Given the description of an element on the screen output the (x, y) to click on. 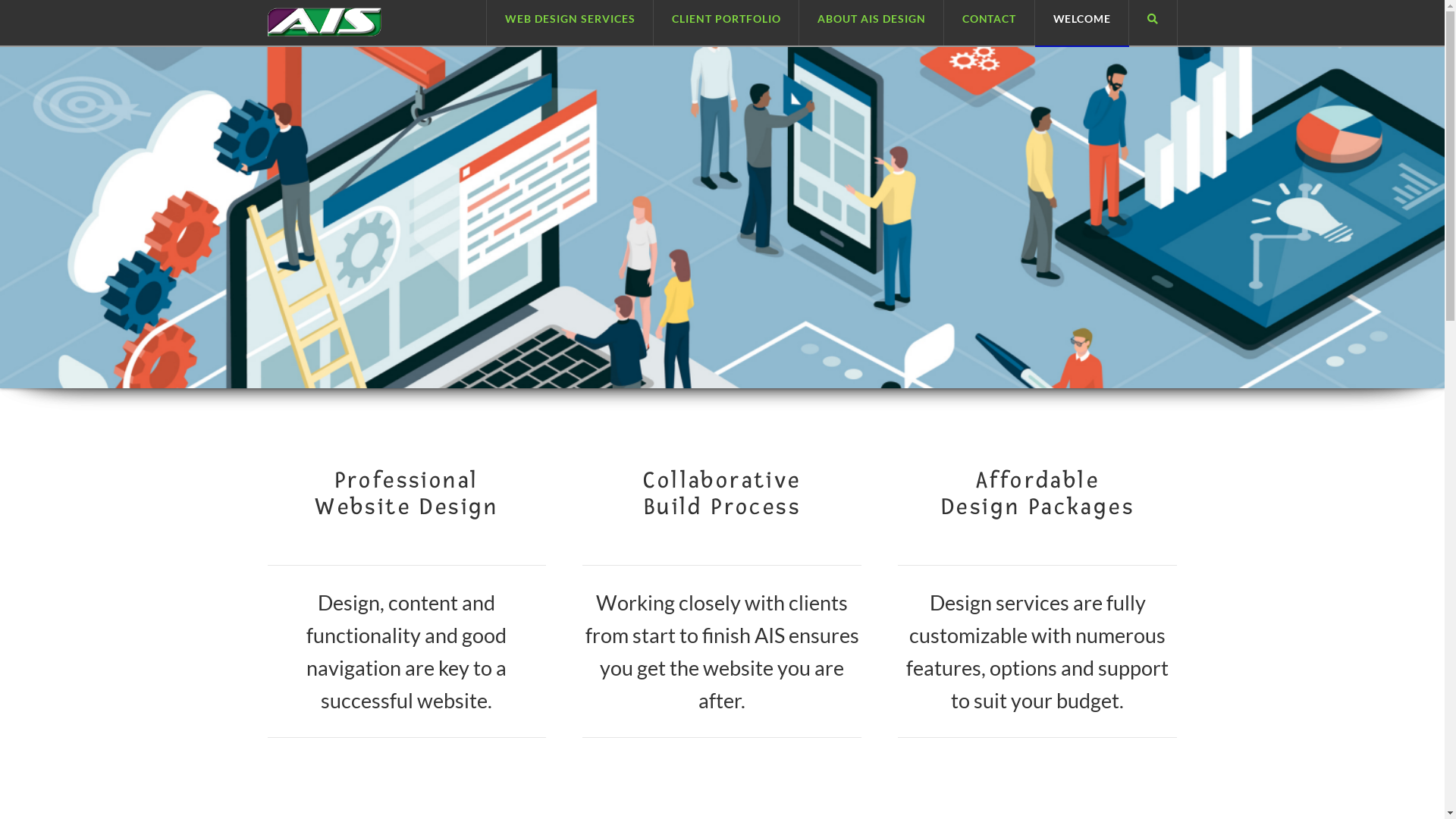
WELCOME Element type: text (1081, 22)
CLIENT PORTFOLIO Element type: text (726, 22)
ABOUT AIS DESIGN Element type: text (871, 22)
CONTACT Element type: text (989, 22)
WEB DESIGN SERVICES Element type: text (569, 22)
